Given the description of an element on the screen output the (x, y) to click on. 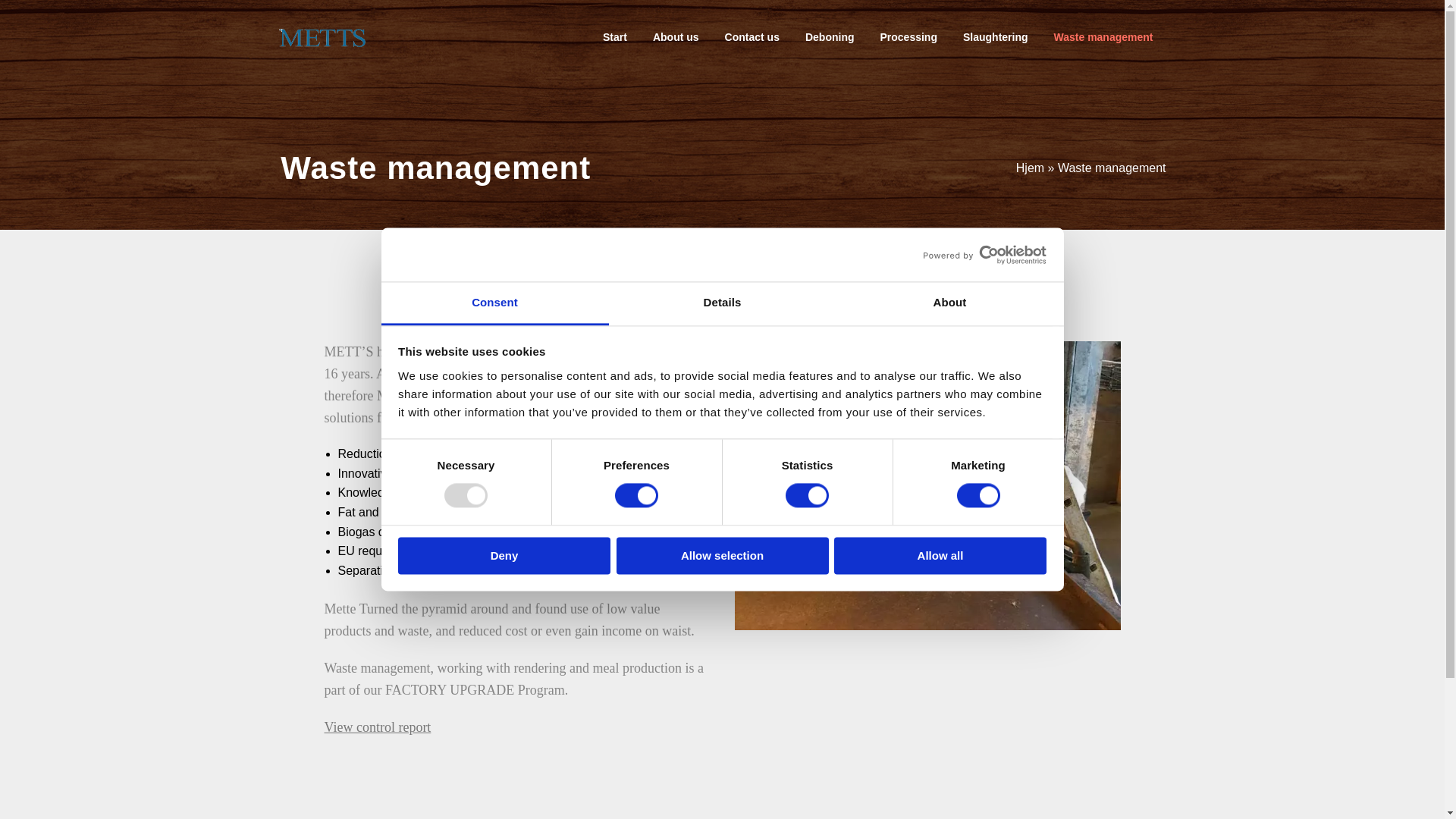
Deboning (829, 36)
Waste management (1103, 36)
Allow selection (721, 555)
Start (614, 36)
Details (721, 303)
About us (675, 36)
Contact us (751, 36)
Slaughtering (994, 36)
About (948, 303)
Deny (503, 555)
Consent (494, 303)
Hjem (1029, 166)
Processing (907, 36)
Allow all (940, 555)
